Given the description of an element on the screen output the (x, y) to click on. 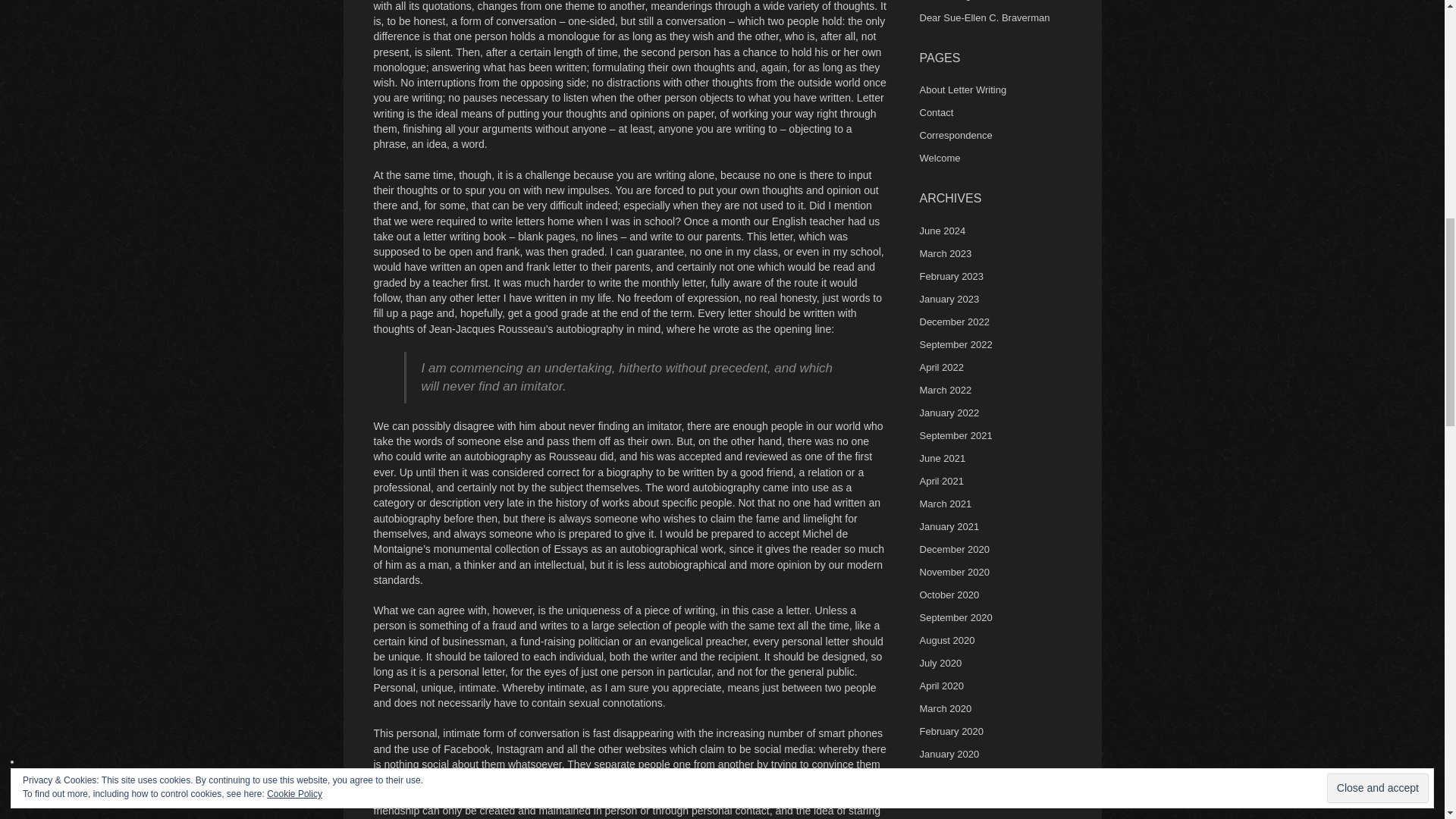
March 2023 (944, 253)
Contact (935, 112)
December 2022 (954, 321)
February 2023 (951, 276)
Correspondence (954, 134)
Dear Sue-Ellen C. Braverman (983, 17)
January 2023 (948, 298)
About Letter Writing (962, 89)
June 2024 (941, 230)
Welcome (938, 157)
